Given the description of an element on the screen output the (x, y) to click on. 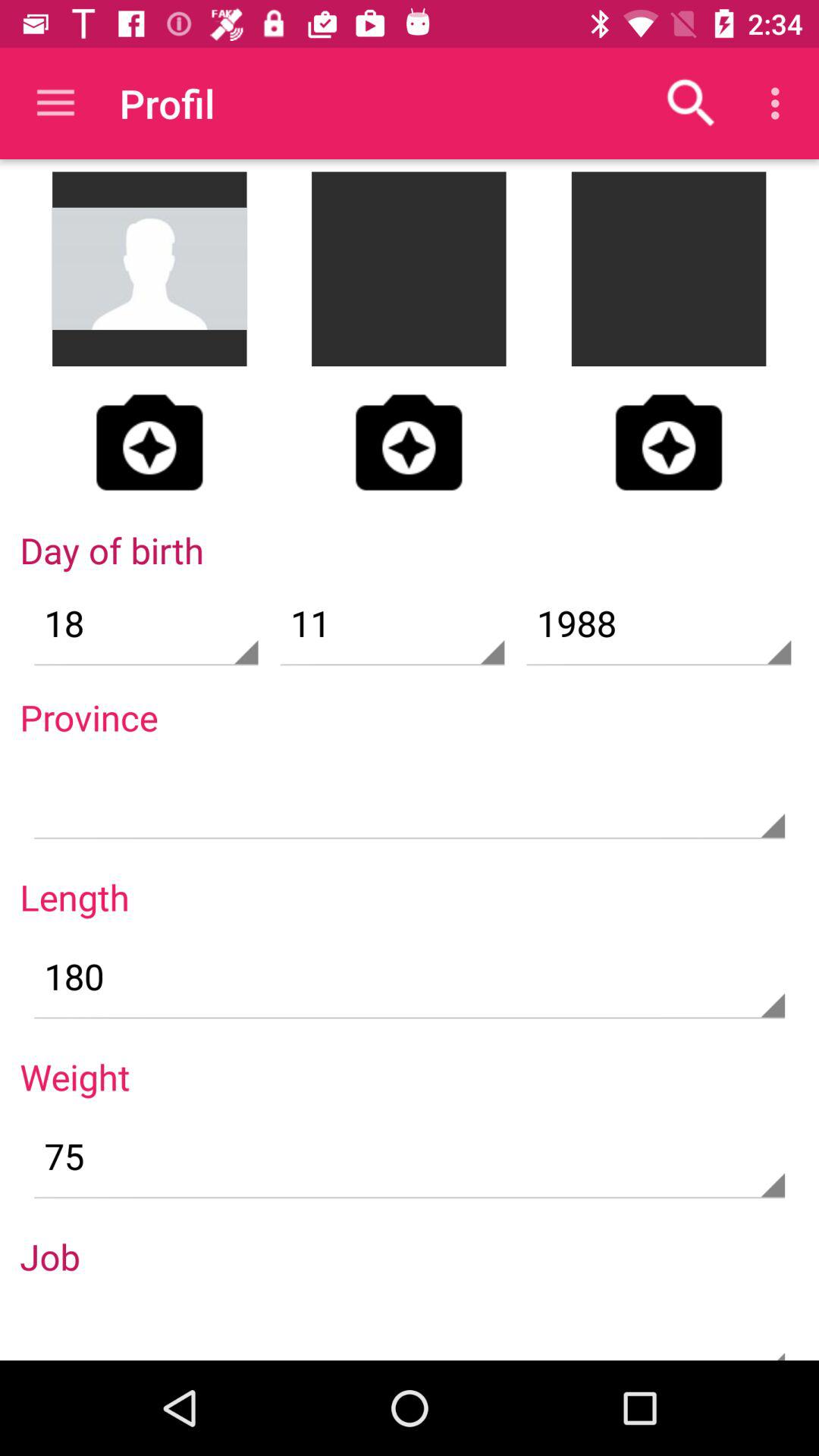
snap image (149, 442)
